Given the description of an element on the screen output the (x, y) to click on. 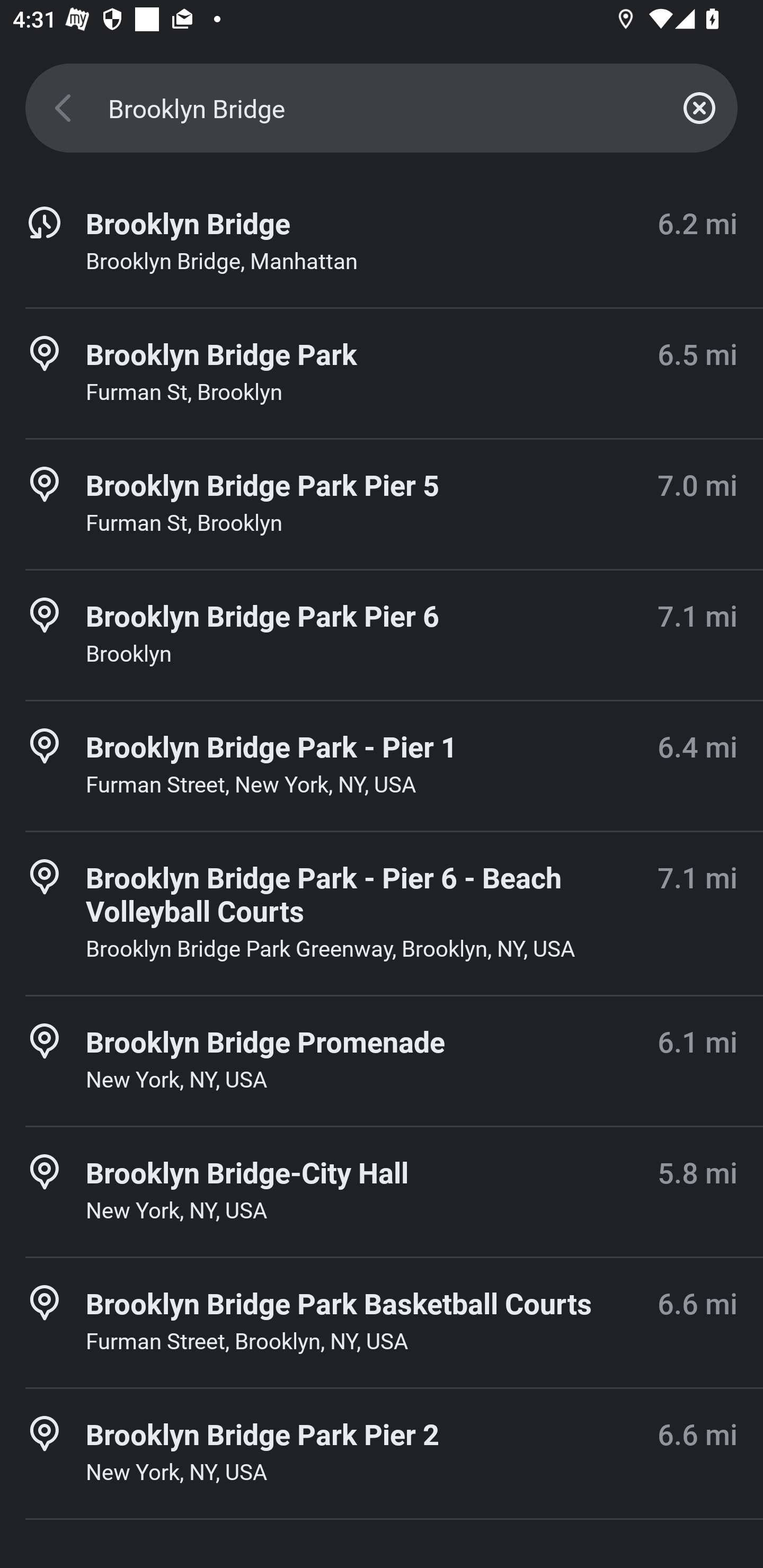
Brooklyn Bridge SEARCH_SCREEN_SEARCH_FIELD (381, 108)
Brooklyn Bridge 6.2 mi Brooklyn Bridge, Manhattan (381, 242)
Brooklyn Bridge Park 6.5 mi Furman St, Brooklyn (381, 372)
Brooklyn Bridge Park Pier 6 7.1 mi Brooklyn (381, 634)
Brooklyn Bridge-City Hall 5.8 mi New York, NY, USA (381, 1191)
